Given the description of an element on the screen output the (x, y) to click on. 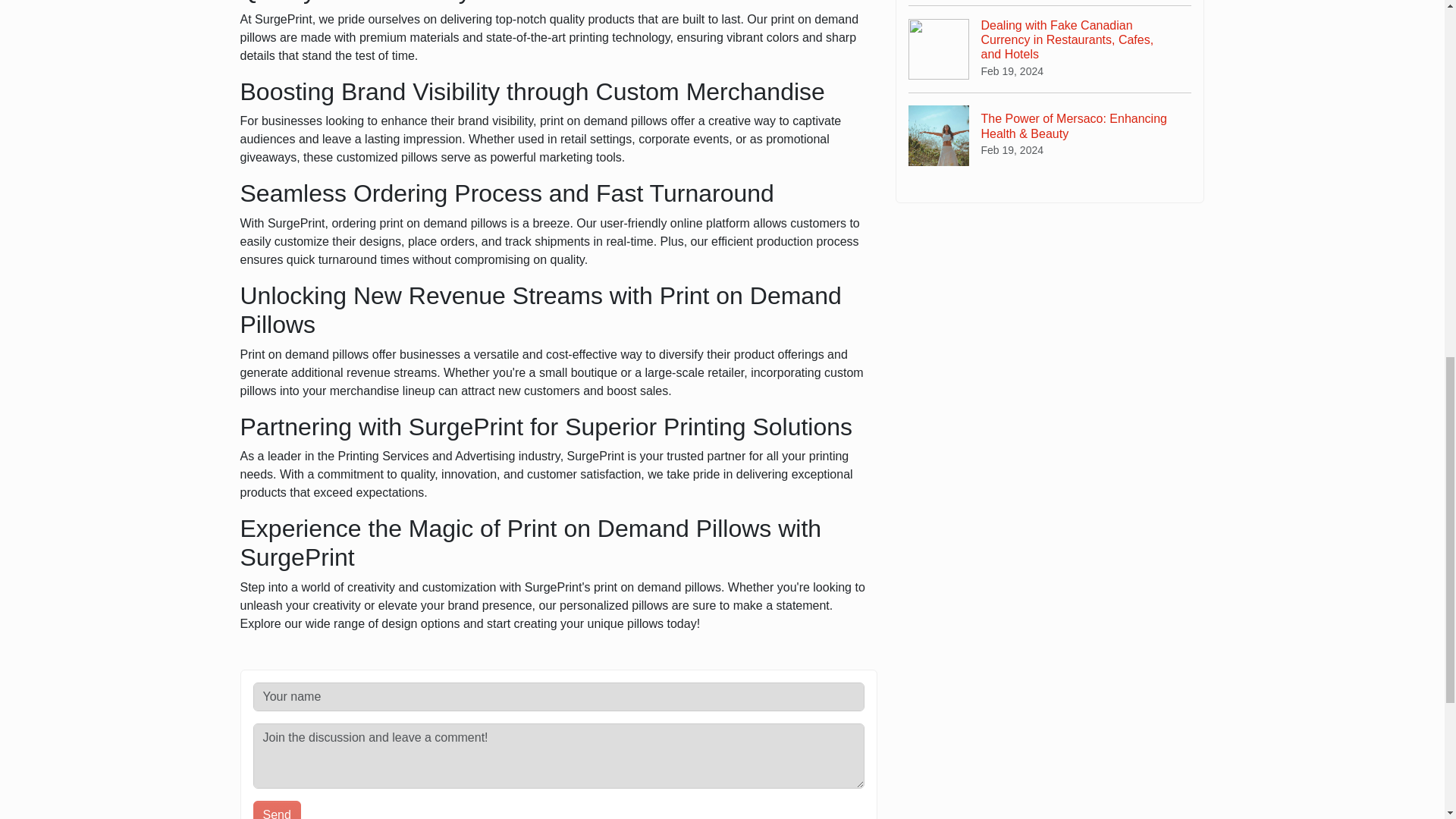
Send (277, 809)
Send (277, 809)
